Given the description of an element on the screen output the (x, y) to click on. 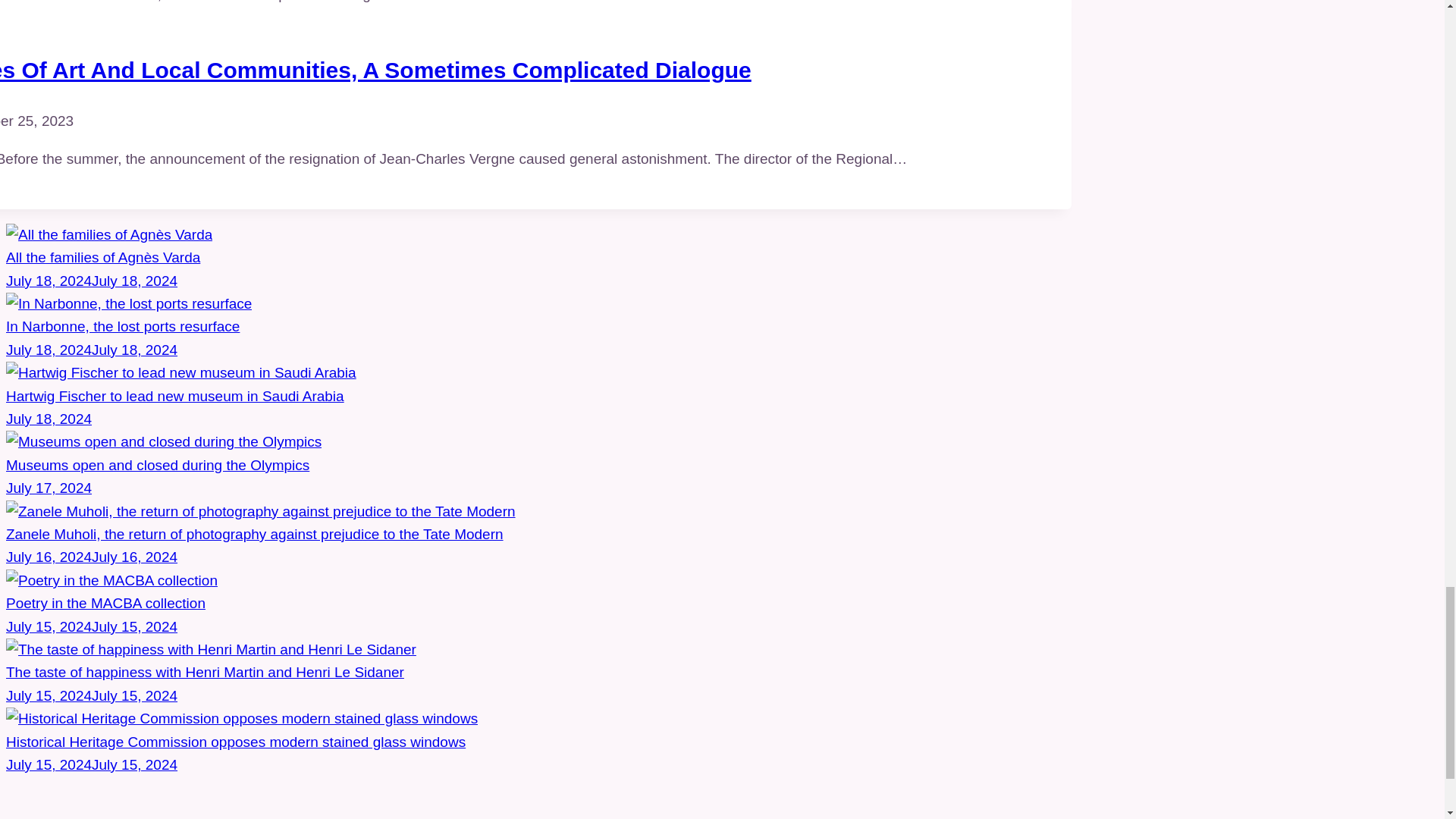
4:34 am (48, 418)
4:34 am (91, 764)
Hartwig Fischer to lead new museum in Saudi Arabia (180, 372)
July 18, 2024July 18, 2024 (91, 349)
2:34 pm (91, 626)
July 16, 2024July 16, 2024 (91, 556)
7:34 am (91, 349)
In Narbonne, the lost ports resurface (122, 326)
4:34 am (48, 487)
In Narbonne, the lost ports resurface (128, 303)
July 18, 2024 (48, 418)
